Given the description of an element on the screen output the (x, y) to click on. 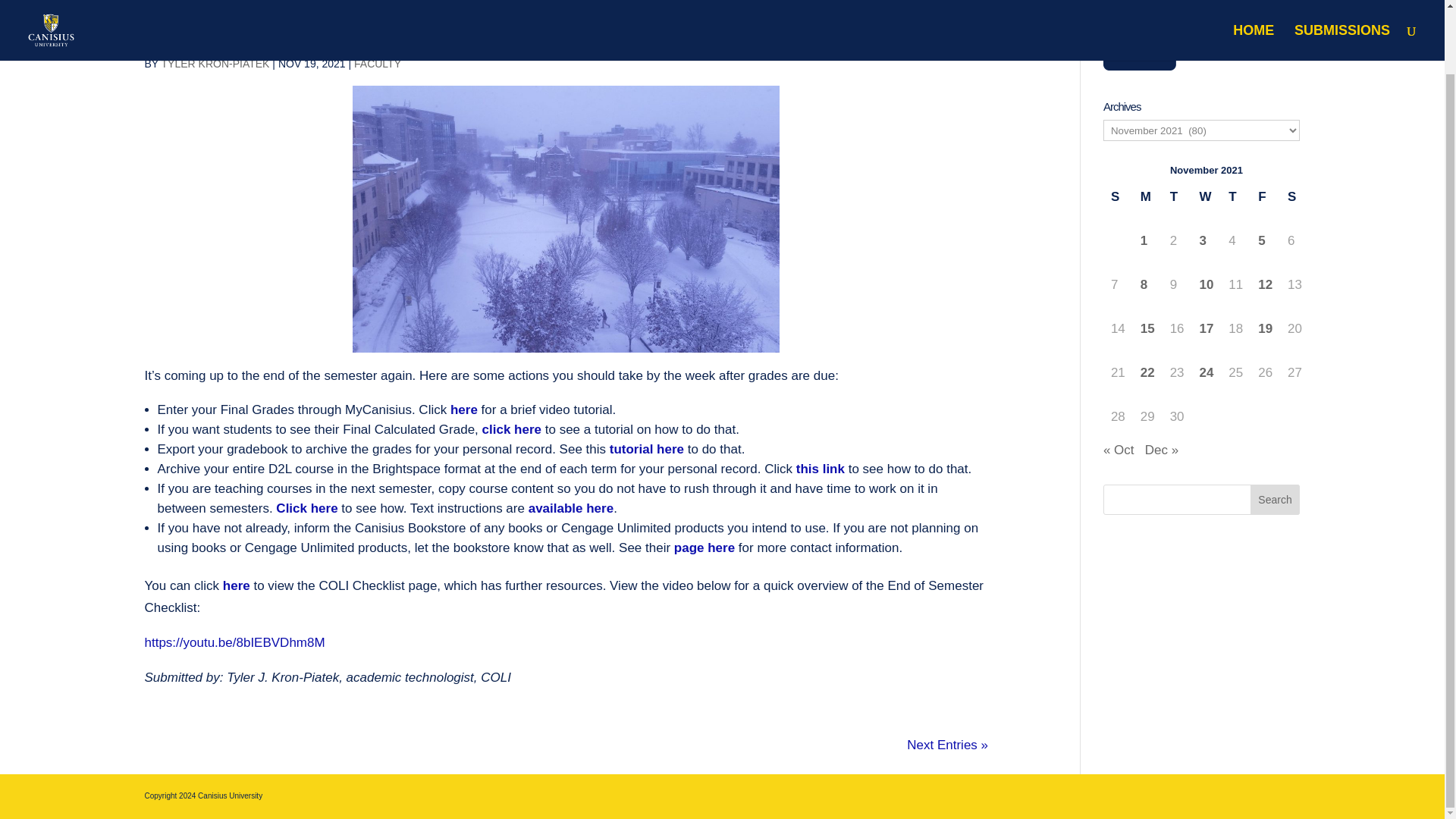
here (236, 585)
TYLER KRON-PIATEK (215, 63)
Click here (306, 508)
available here (570, 508)
this link  (822, 468)
Search (1275, 499)
Search (1275, 499)
here (463, 409)
Posts by Tyler Kron-Piatek (215, 63)
 tutorial here (644, 449)
 click here (510, 429)
FACULTY (377, 63)
page here (704, 547)
